Given the description of an element on the screen output the (x, y) to click on. 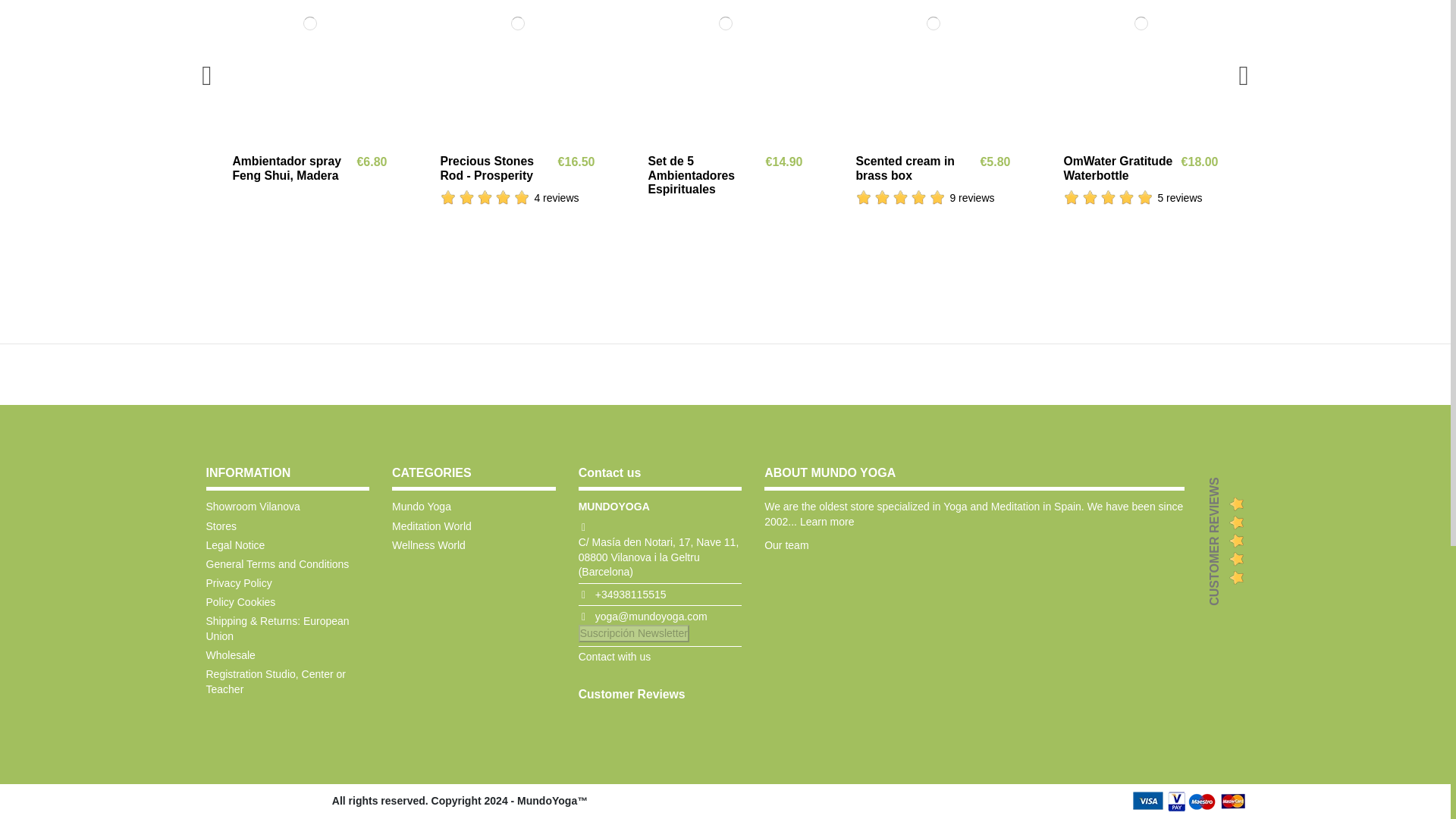
Our shipping terms and conditions (287, 628)
General Terms and Conditions (277, 564)
What our customers think about us (631, 694)
